Given the description of an element on the screen output the (x, y) to click on. 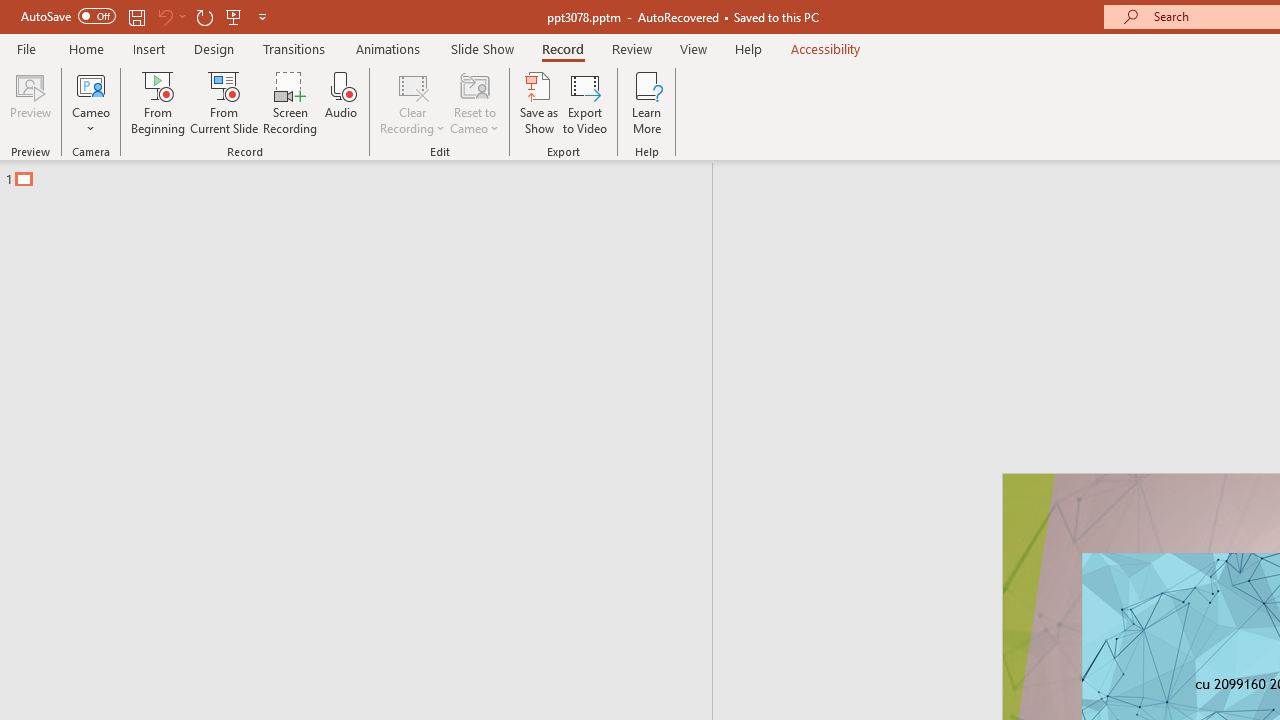
From Beginning... (158, 102)
Screen Recording (290, 102)
From Current Slide... (224, 102)
Learn More (646, 102)
Audio (341, 102)
Save as Show (539, 102)
Cameo (91, 102)
Export to Video (585, 102)
Outline (365, 174)
